Given the description of an element on the screen output the (x, y) to click on. 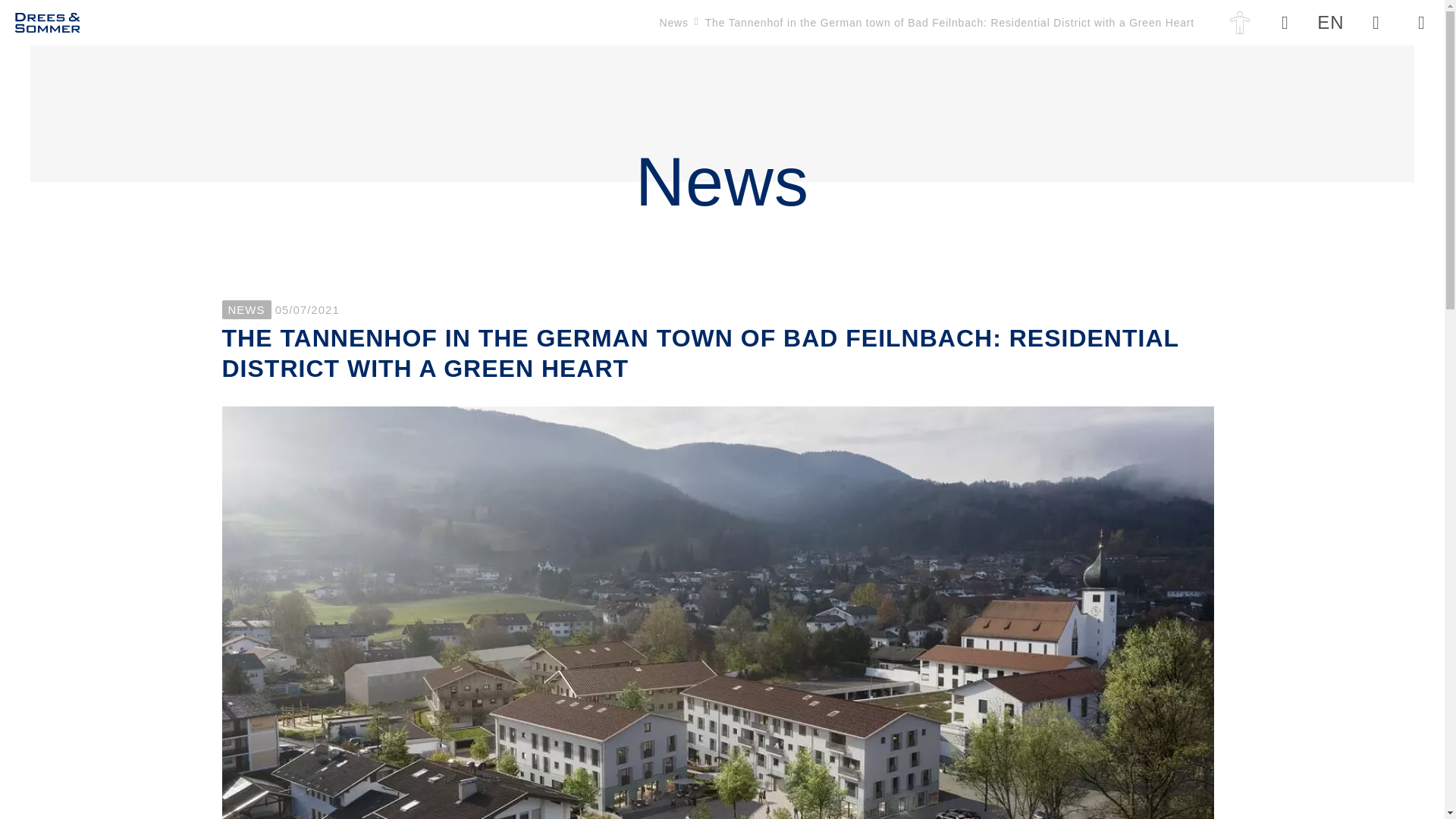
EN (1330, 22)
